Given the description of an element on the screen output the (x, y) to click on. 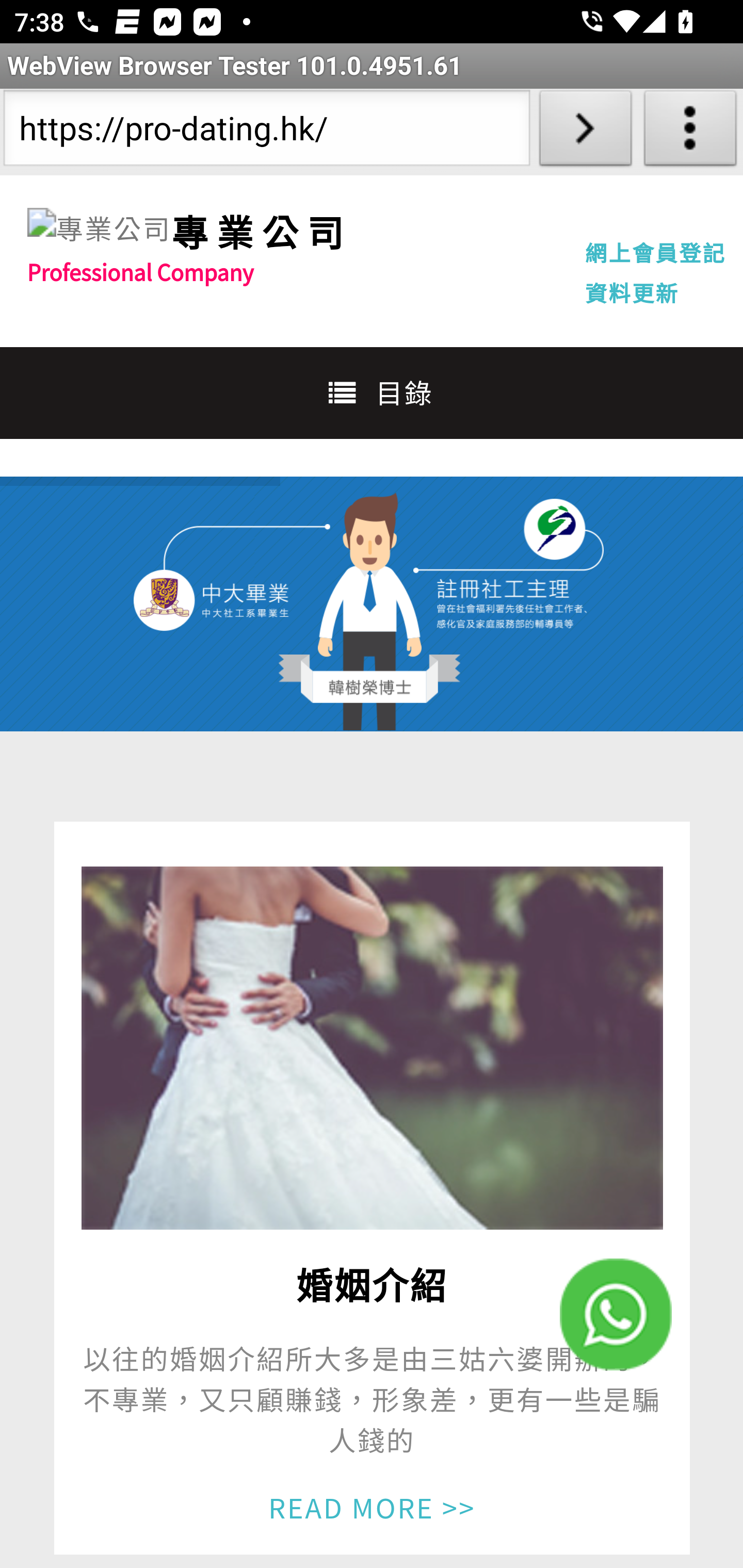
https://pro-dating.hk/ (266, 132)
Load URL (585, 132)
About WebView (690, 132)
專業公司 (261, 230)
專業公司 (99, 228)
網上會員登記 (655, 251)
資料更新 (631, 292)
目錄  目錄 (371, 391)
婚姻介紹 (371, 1047)
sidewhatsapp (616, 1314)
READ MORE >> (372, 1506)
